Given the description of an element on the screen output the (x, y) to click on. 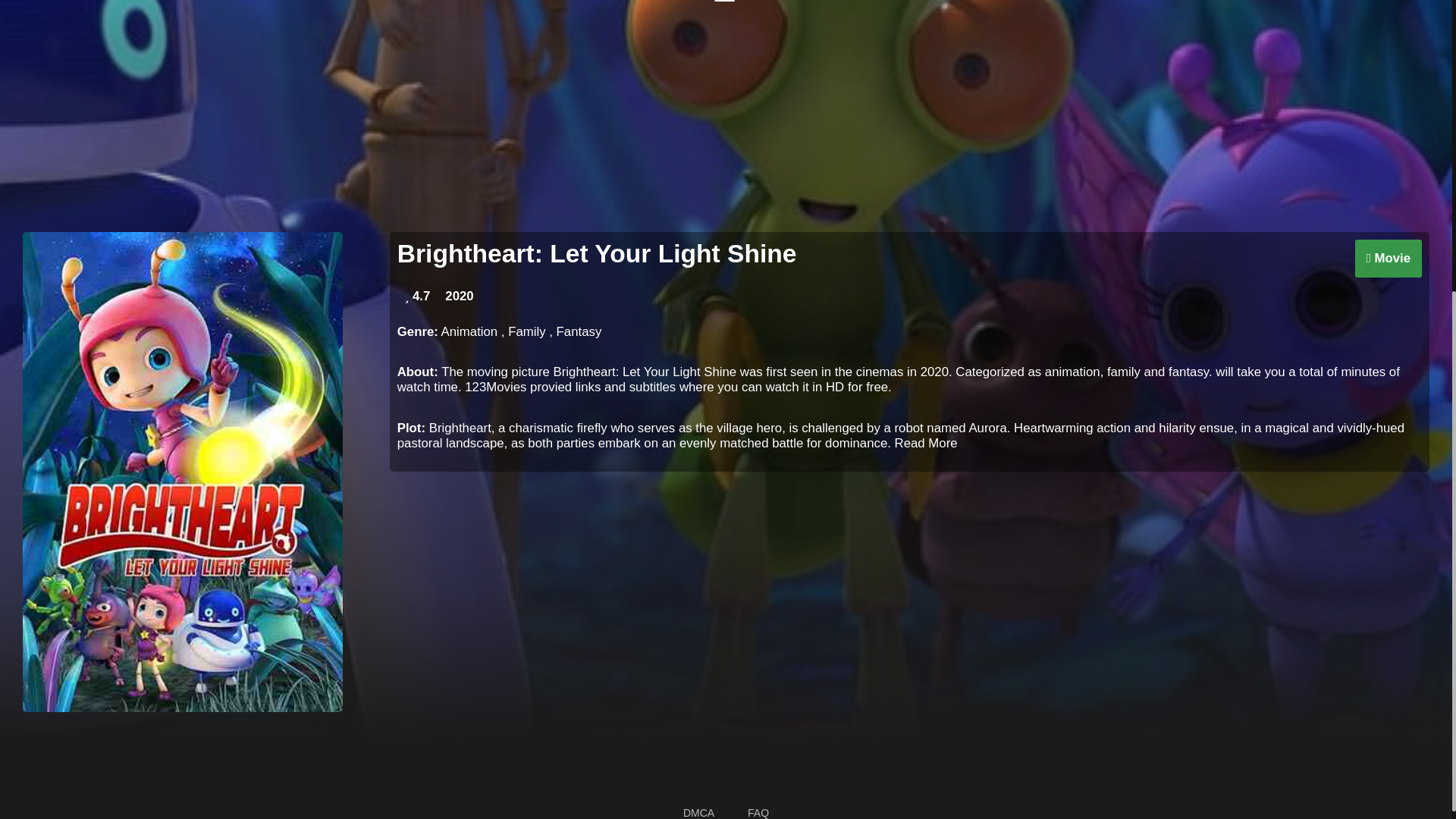
Read More (926, 442)
Release date (459, 296)
Rating (417, 296)
